Given the description of an element on the screen output the (x, y) to click on. 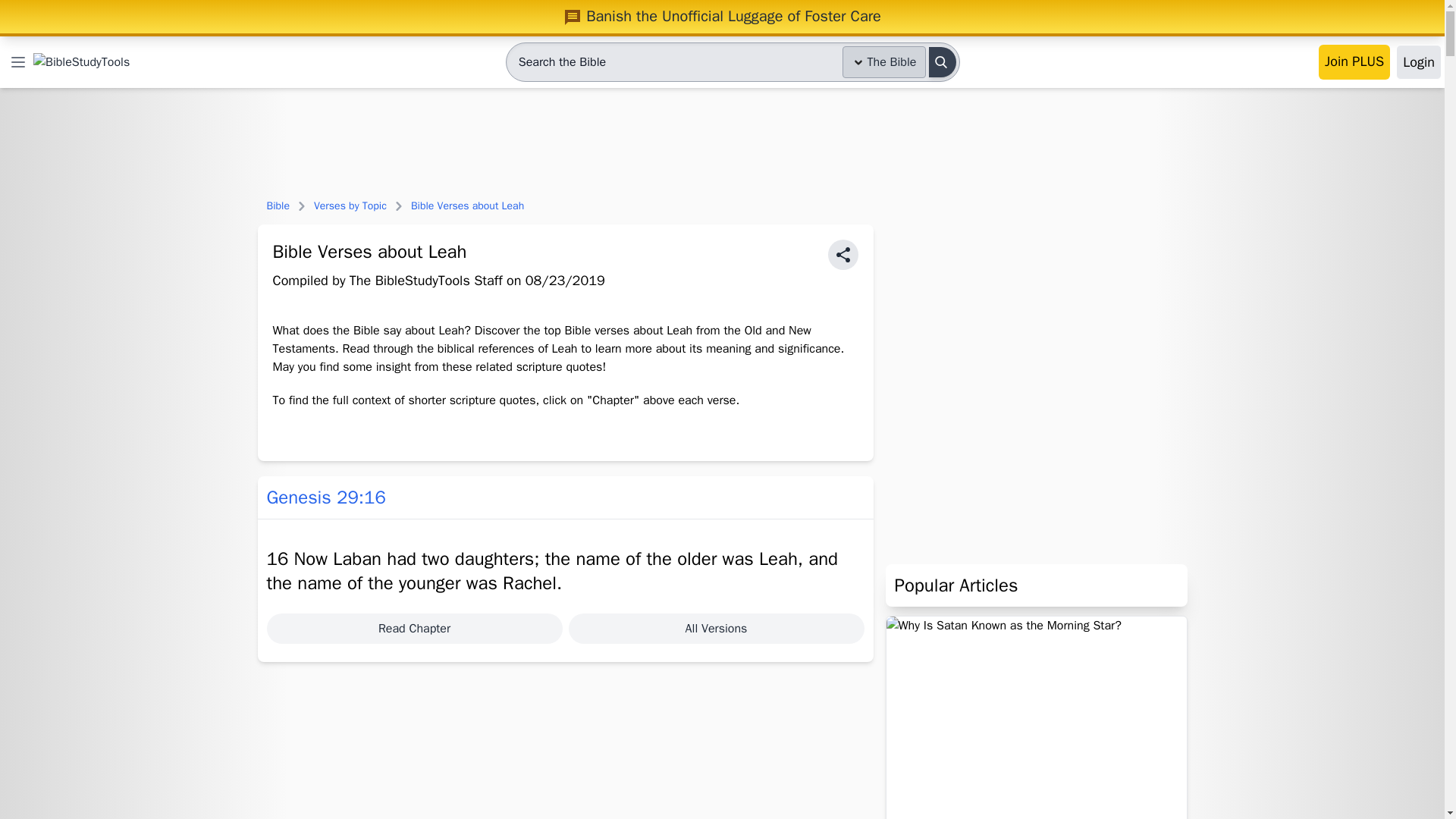
Banish the Unofficial Luggage of Foster Care (721, 16)
The Bible (884, 61)
Login (1418, 62)
Join PLUS (1354, 62)
